Given the description of an element on the screen output the (x, y) to click on. 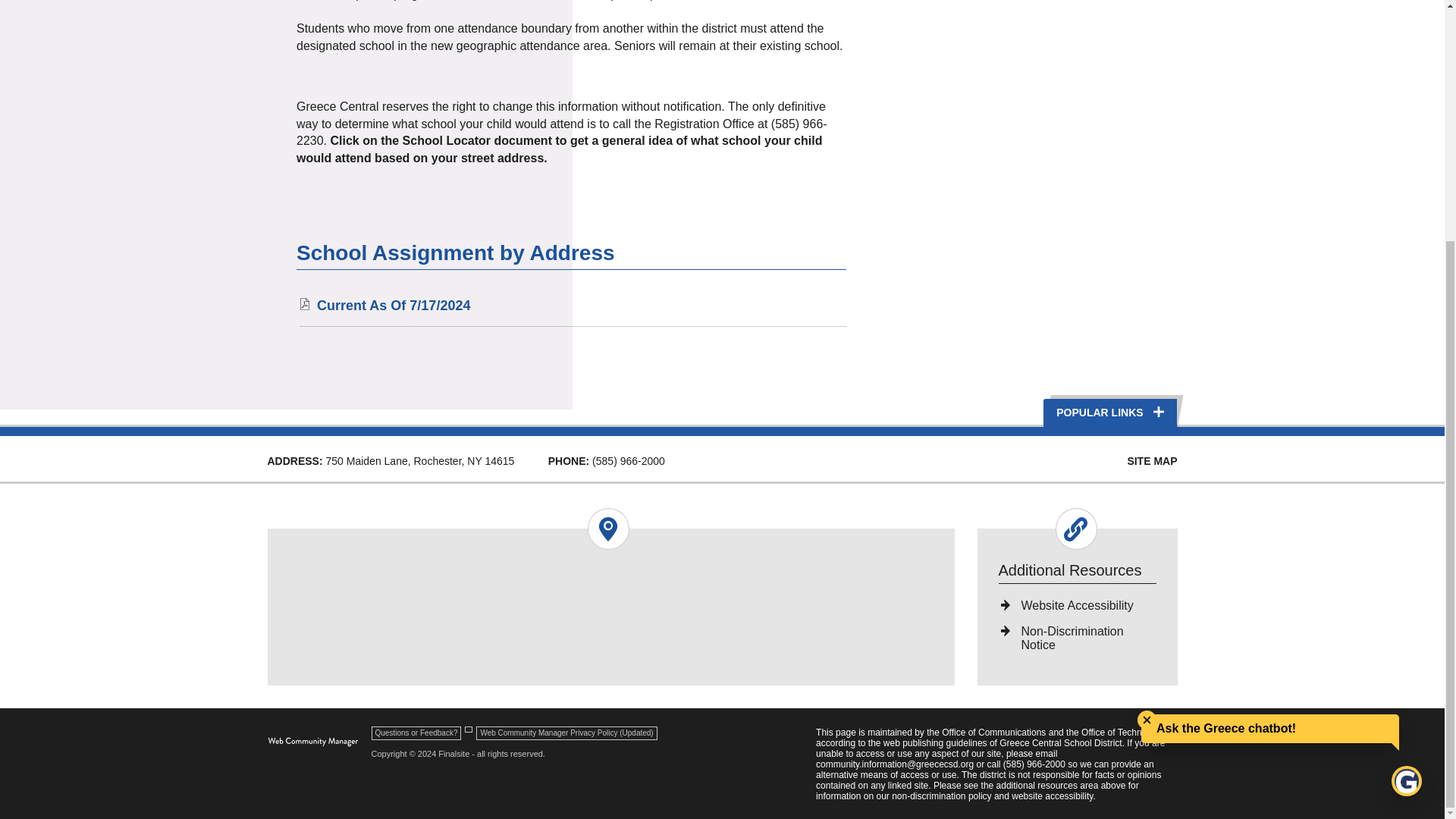
Finalsite - all rights reserved (312, 741)
